Given the description of an element on the screen output the (x, y) to click on. 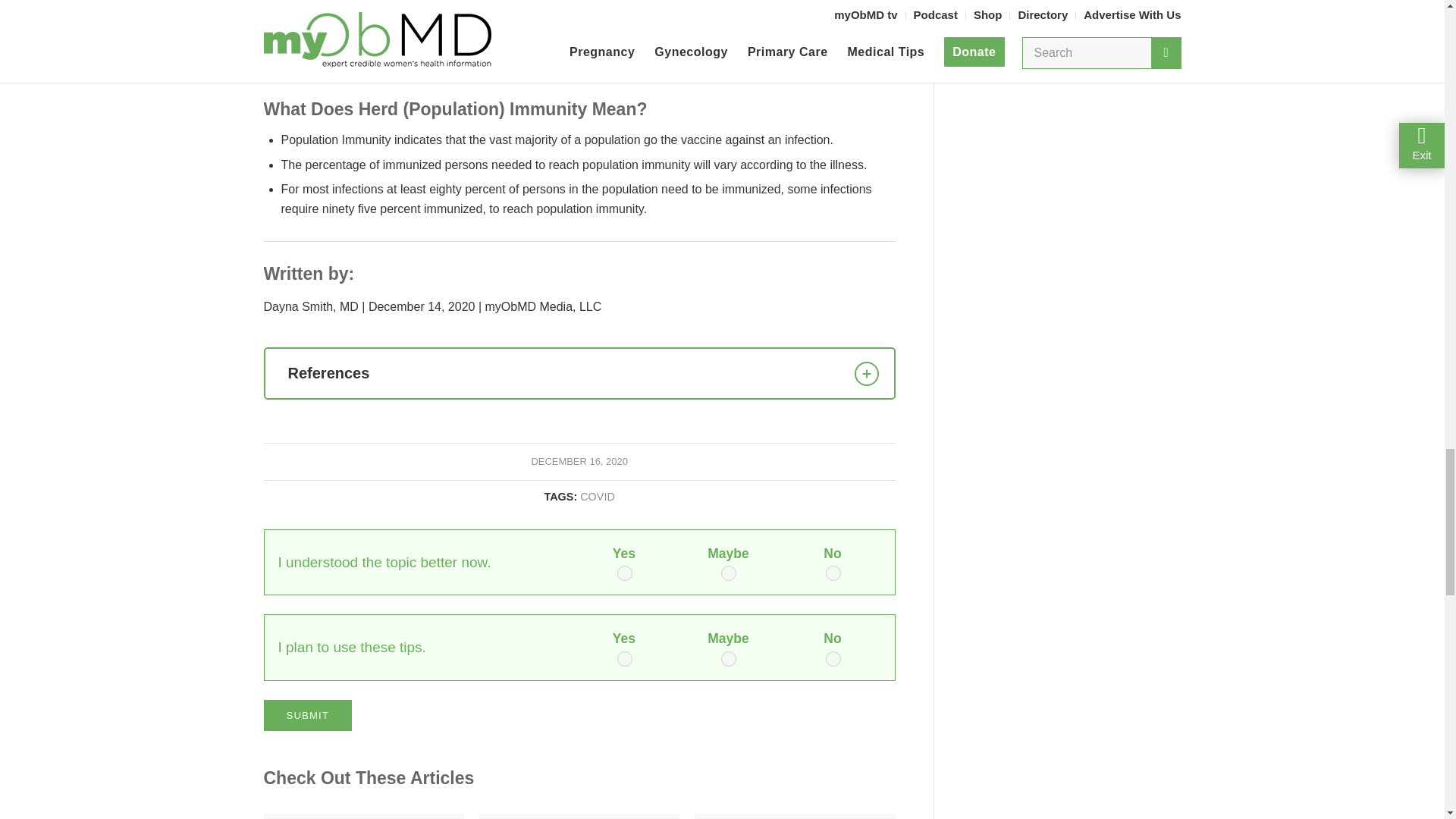
Submit (307, 715)
understood (624, 572)
COVID (596, 496)
Submit (307, 715)
